Given the description of an element on the screen output the (x, y) to click on. 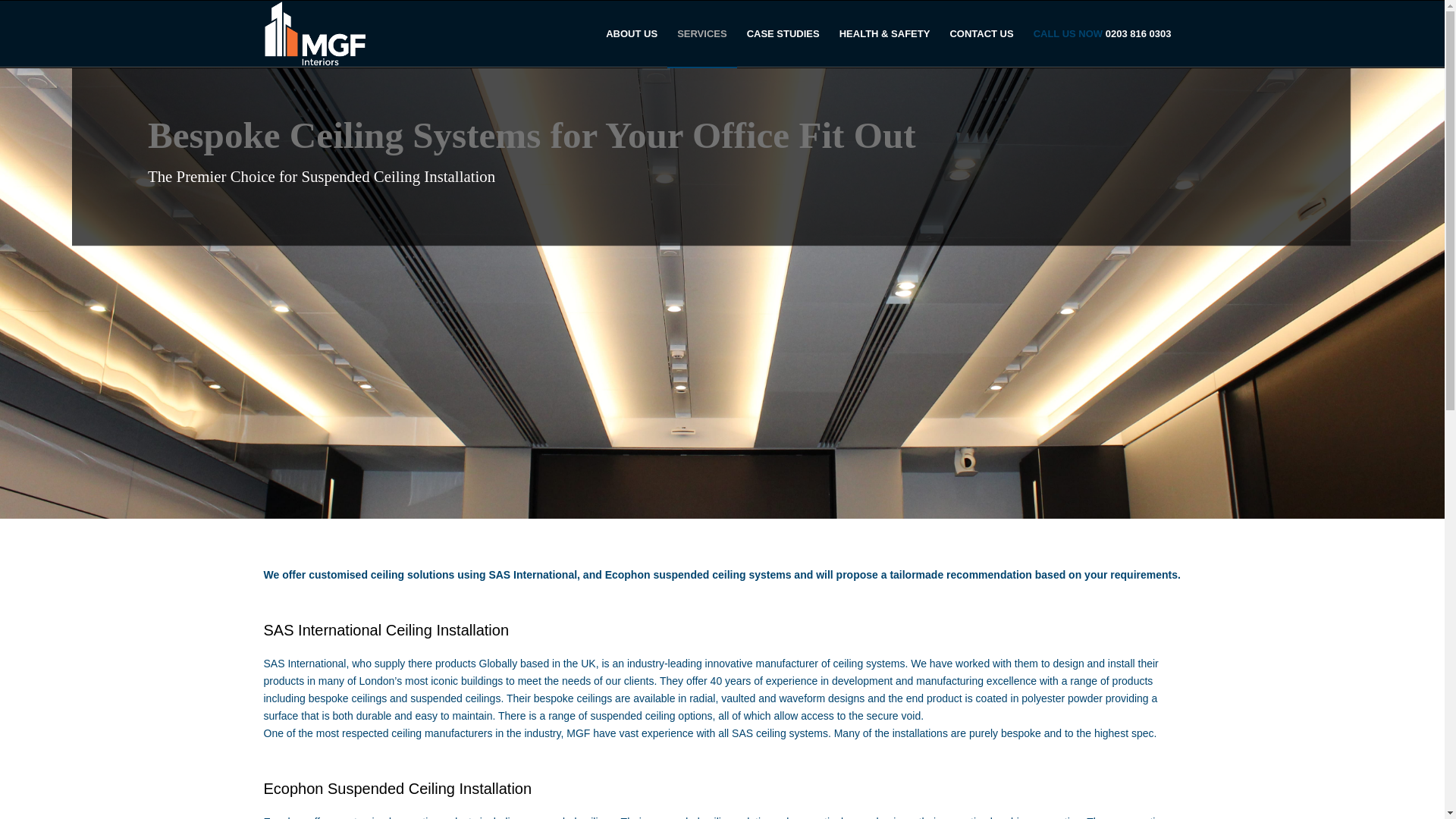
CASE STUDIES (782, 33)
ABOUT US (630, 33)
CONTACT US (981, 33)
CALL US NOW 0203 816 0303 (1101, 33)
SERVICES (701, 33)
